Given the description of an element on the screen output the (x, y) to click on. 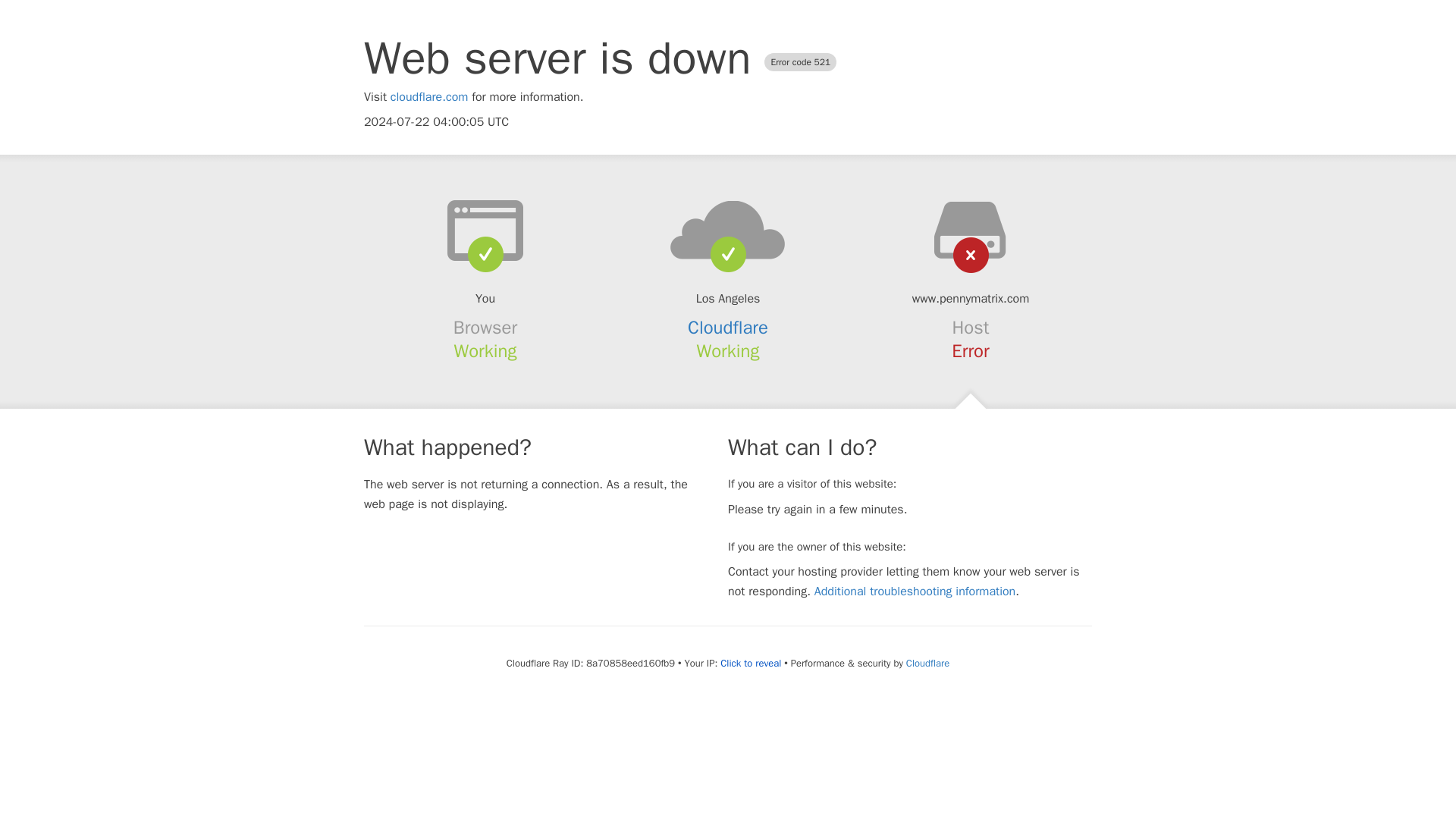
cloudflare.com (429, 96)
Cloudflare (727, 327)
Cloudflare (927, 662)
Click to reveal (750, 663)
Additional troubleshooting information (913, 590)
